Given the description of an element on the screen output the (x, y) to click on. 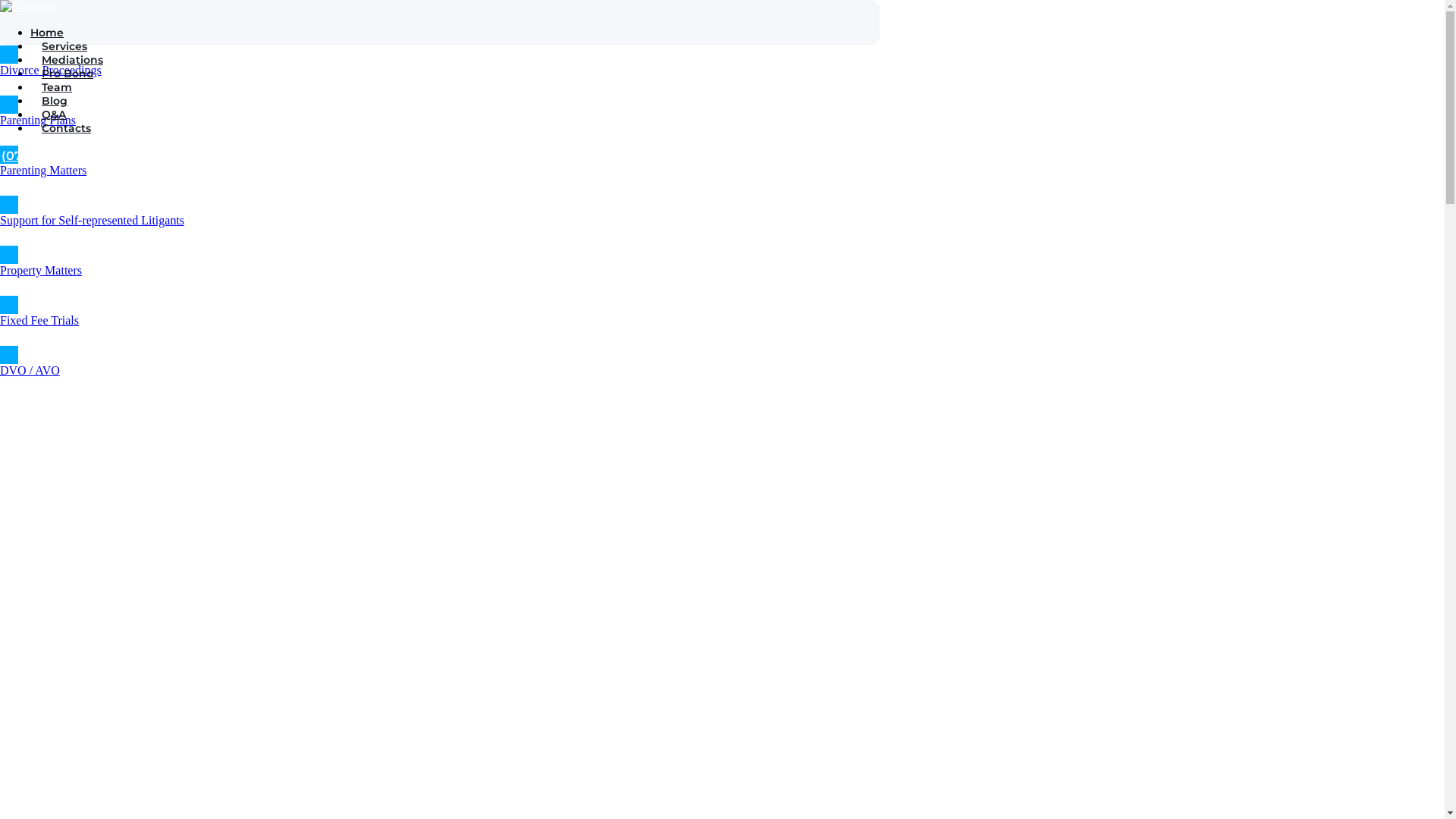
Contacts Element type: text (66, 127)
Team Element type: text (56, 87)
Services Element type: text (454, 46)
Parenting Matters Element type: text (227, 161)
(07) 2113 4645 Element type: text (439, 155)
Mediations Element type: text (72, 59)
Support for Self-represented Litigants Element type: text (227, 211)
Pro Bono Element type: text (67, 73)
Blog Element type: text (54, 100)
Fixed Fee Trials Element type: text (227, 311)
DVO / AVO Element type: text (227, 361)
Q&A Element type: text (53, 114)
Parenting Plans Element type: text (227, 111)
Property Matters Element type: text (227, 261)
Home Element type: text (46, 32)
Divorce Proceedings Element type: text (227, 61)
